Given the description of an element on the screen output the (x, y) to click on. 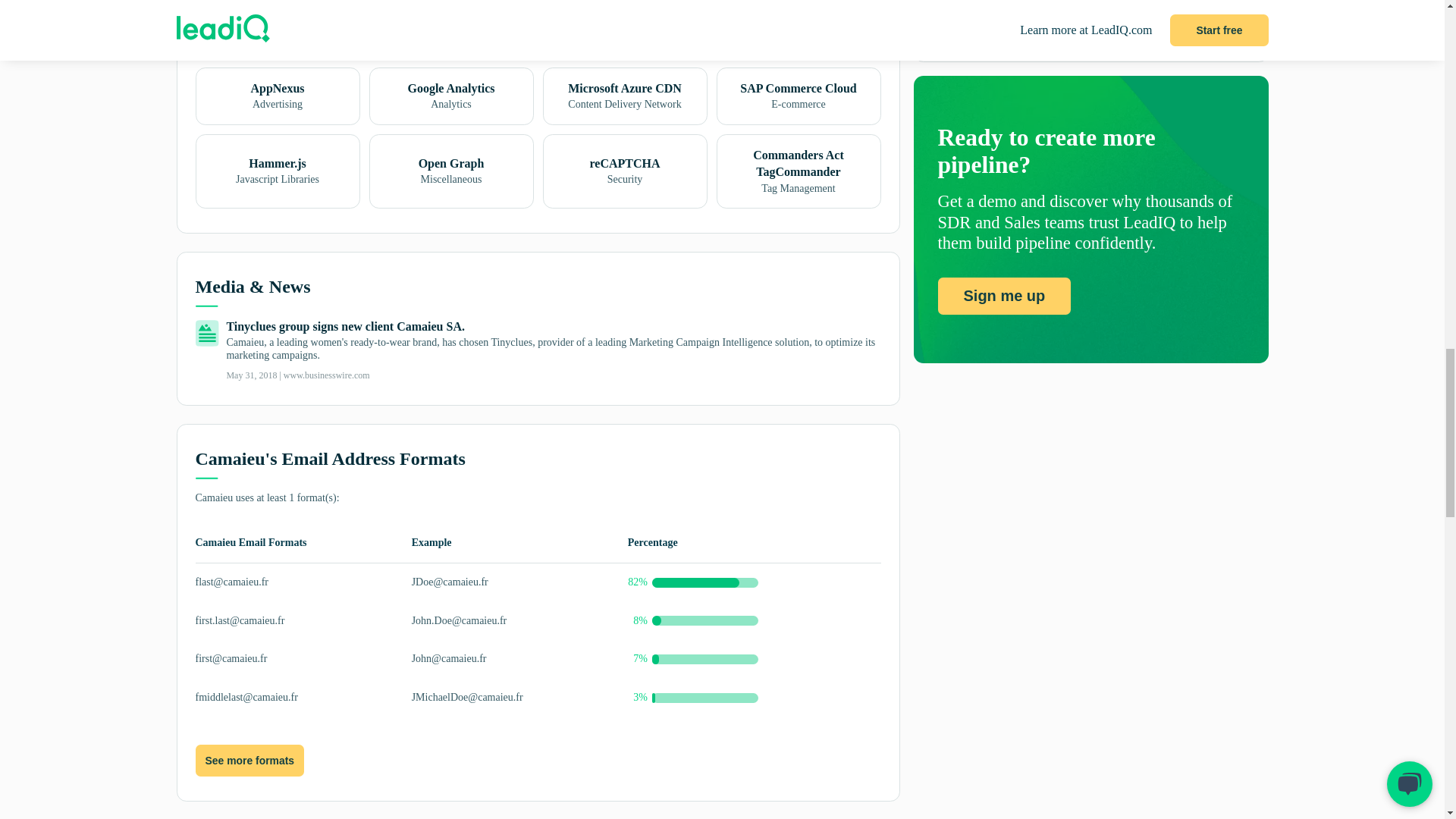
See more formats (249, 760)
See more formats (249, 760)
